Given the description of an element on the screen output the (x, y) to click on. 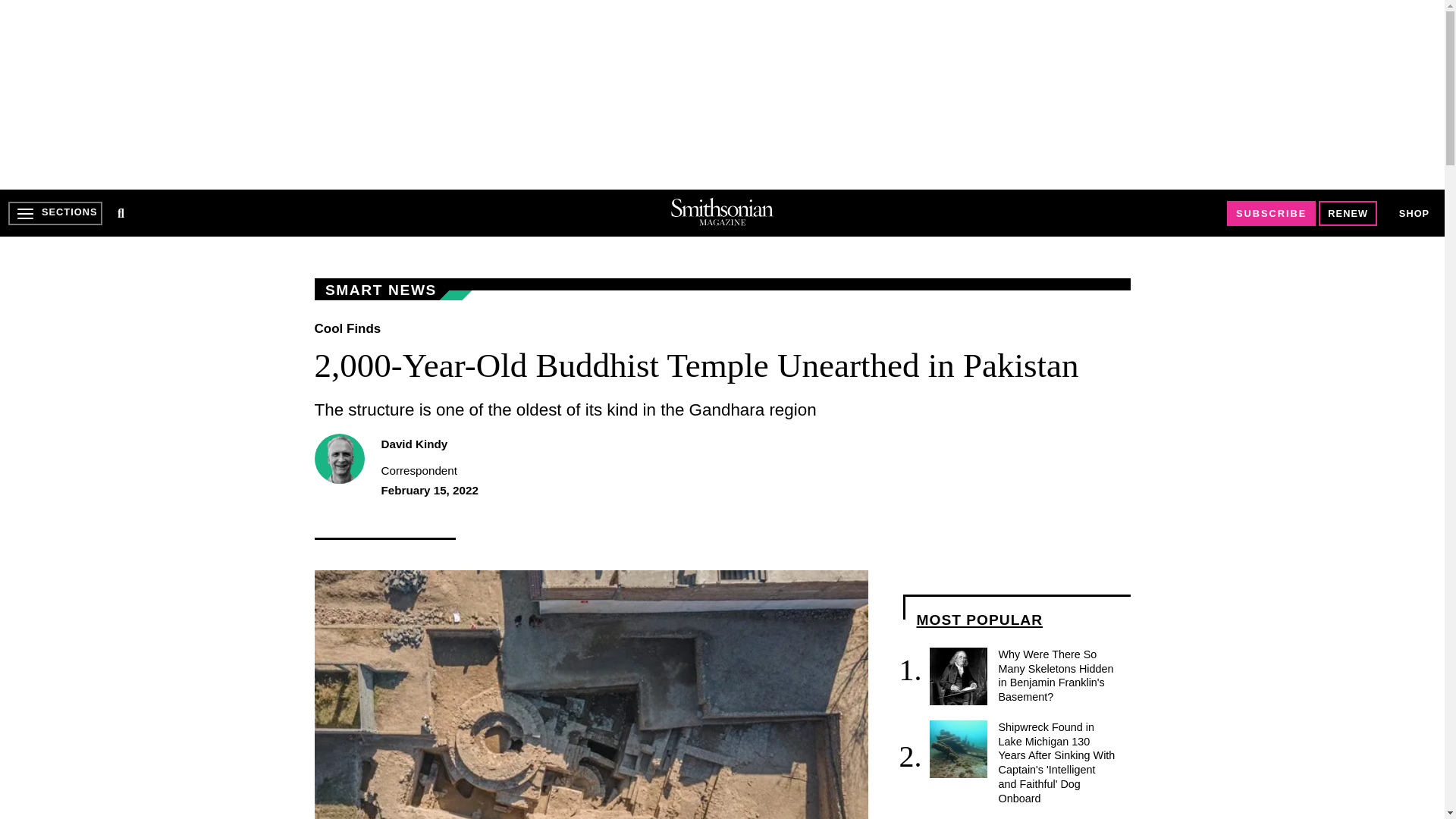
SHOP (1413, 212)
RENEW (1347, 212)
RENEW (1348, 213)
SUBSCRIBE (1271, 212)
SUBSCRIBE (1271, 213)
SECTIONS (55, 213)
SHOP (1414, 213)
